Given the description of an element on the screen output the (x, y) to click on. 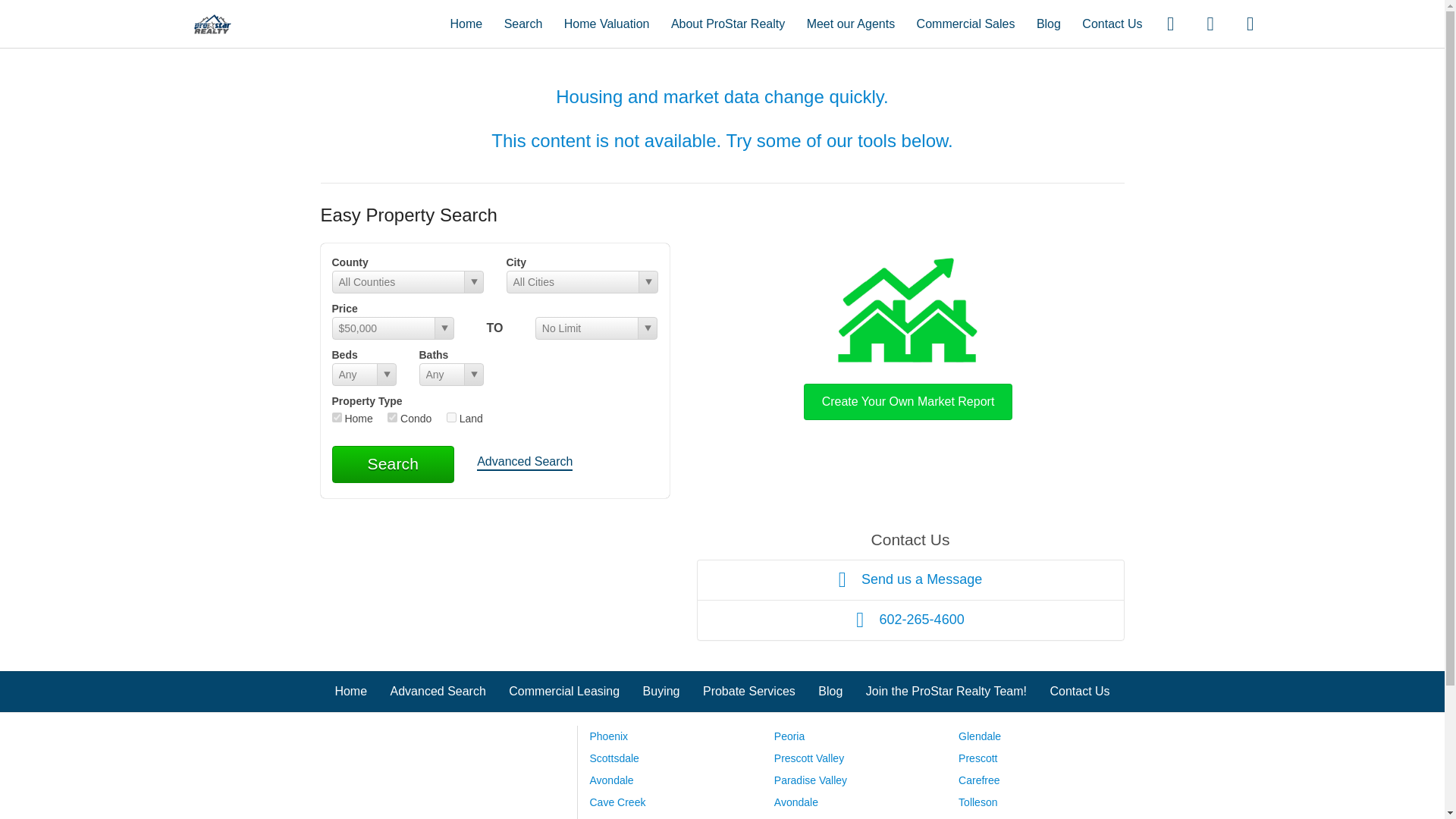
Search (392, 463)
Advanced Search (438, 690)
Contact Us (1079, 690)
Commercial Leasing (564, 690)
Send us a Message (909, 579)
Contact by Phone (1209, 22)
lnd (451, 417)
Login or Signup (1249, 22)
Peoria (789, 736)
Search (392, 463)
About ProStar Realty (727, 23)
Prescott (977, 758)
Meet our Agents (850, 23)
Scottsdale (614, 758)
Search (523, 23)
